Given the description of an element on the screen output the (x, y) to click on. 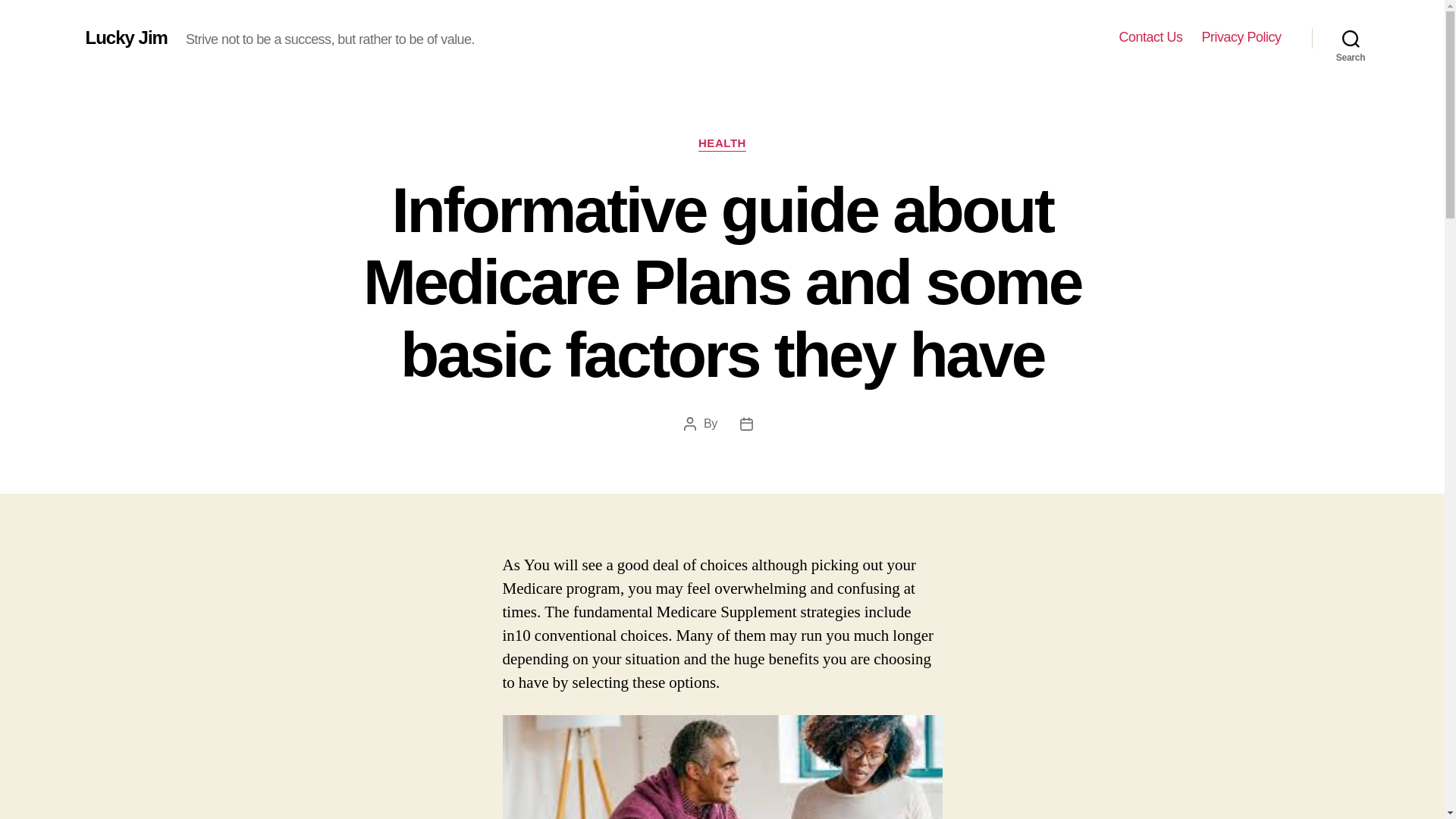
HEALTH (721, 143)
Search (1350, 37)
Privacy Policy (1241, 37)
Contact Us (1150, 37)
Lucky Jim (125, 37)
